Given the description of an element on the screen output the (x, y) to click on. 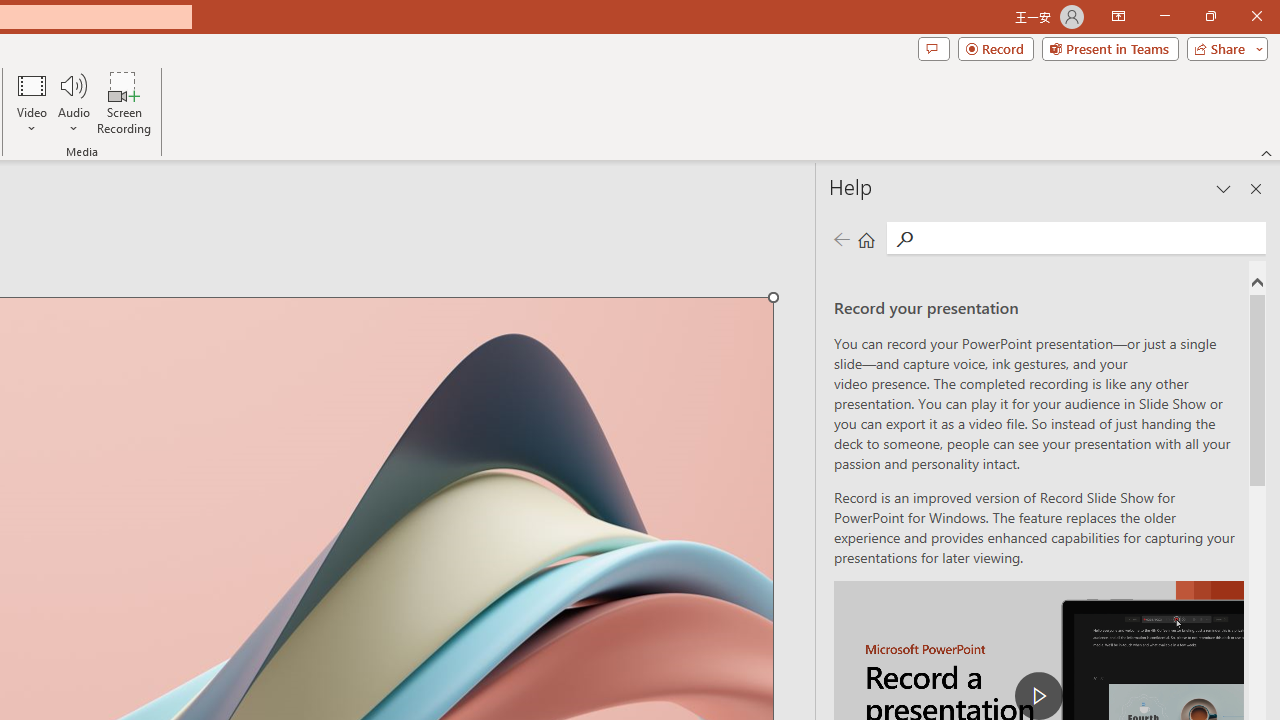
Screen Recording... (123, 102)
